Given the description of an element on the screen output the (x, y) to click on. 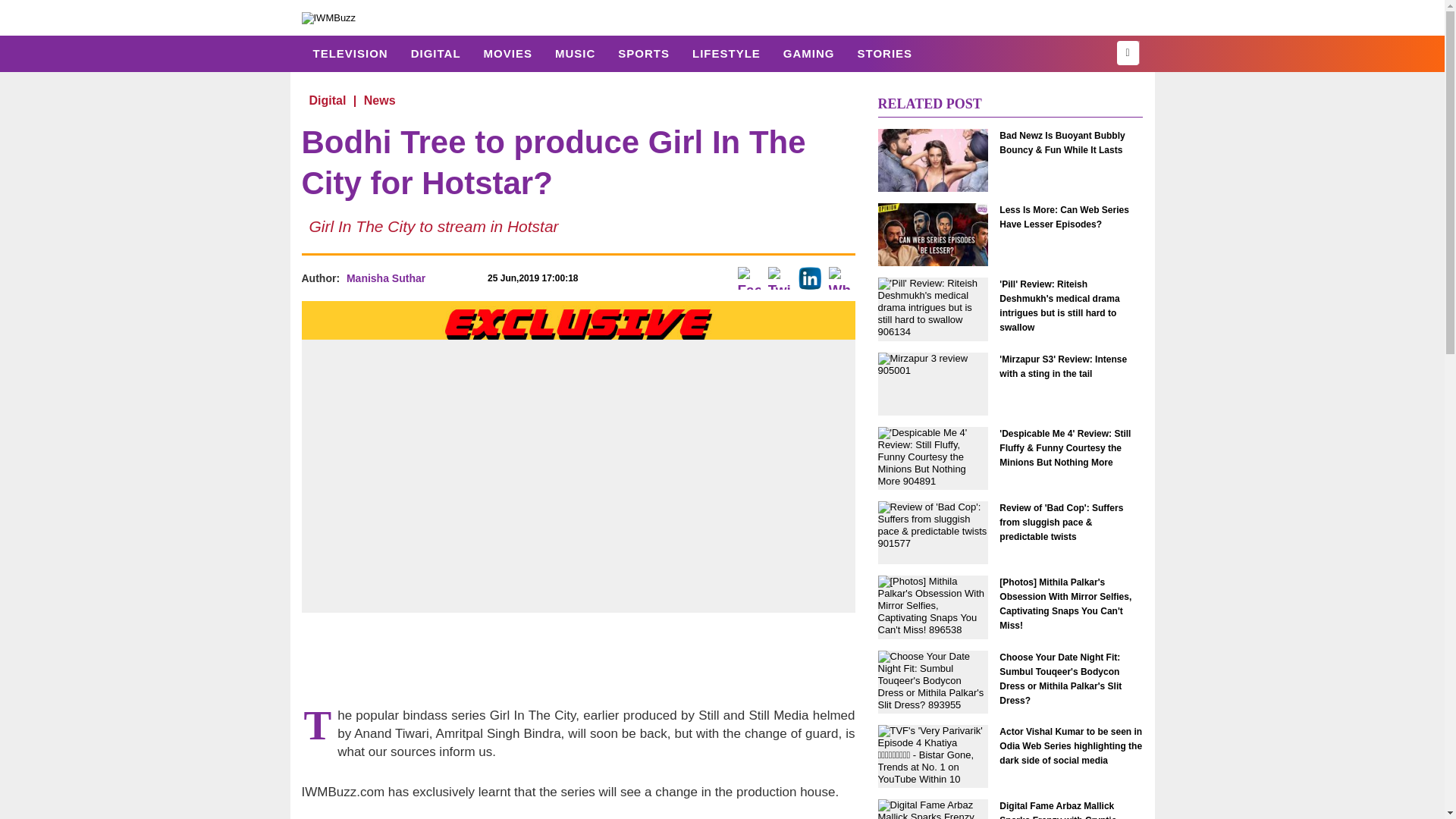
Television (349, 53)
Less Is More: Can Web Series Have Lesser Episodes? (1070, 217)
GAMING (808, 53)
Sports (644, 53)
IWMBuzz (328, 16)
Movies (507, 53)
'Mirzapur S3' Review: Intense with a sting in the tail (932, 383)
Music (575, 53)
News (378, 100)
Web Stories (884, 53)
LIFESTYLE (726, 53)
SPORTS (644, 53)
DIGITAL (434, 53)
TELEVISION (349, 53)
